Given the description of an element on the screen output the (x, y) to click on. 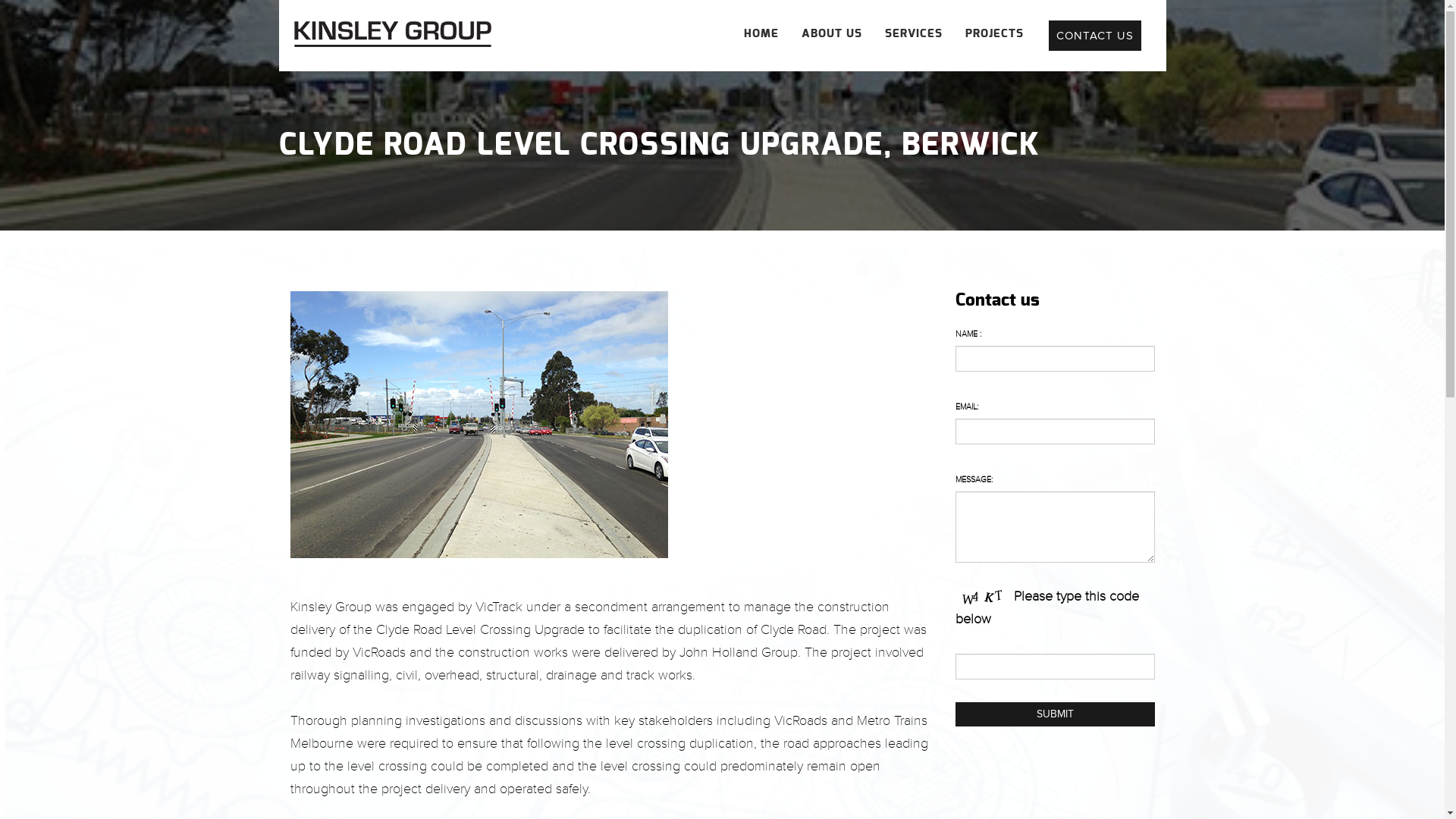
HOME Element type: text (760, 33)
CONTACT US Element type: text (1094, 35)
SERVICES Element type: text (912, 33)
ABOUT US Element type: text (831, 33)
Submit Element type: text (1054, 714)
PROJECTS Element type: text (993, 33)
